Given the description of an element on the screen output the (x, y) to click on. 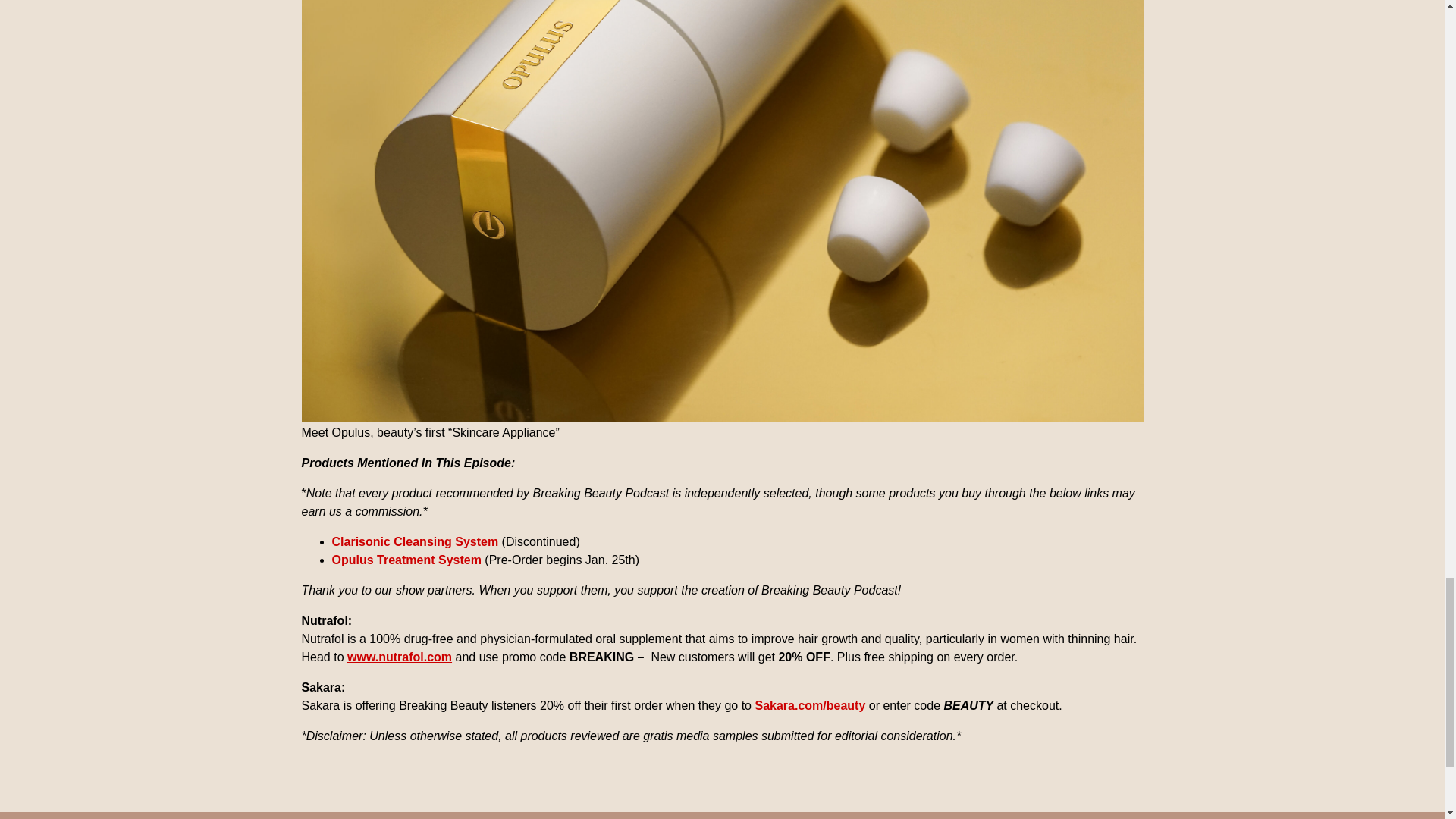
Opulus Treatment System (406, 559)
www.nutrafol.com (399, 656)
Clarisonic Cleansing System (415, 541)
